Given the description of an element on the screen output the (x, y) to click on. 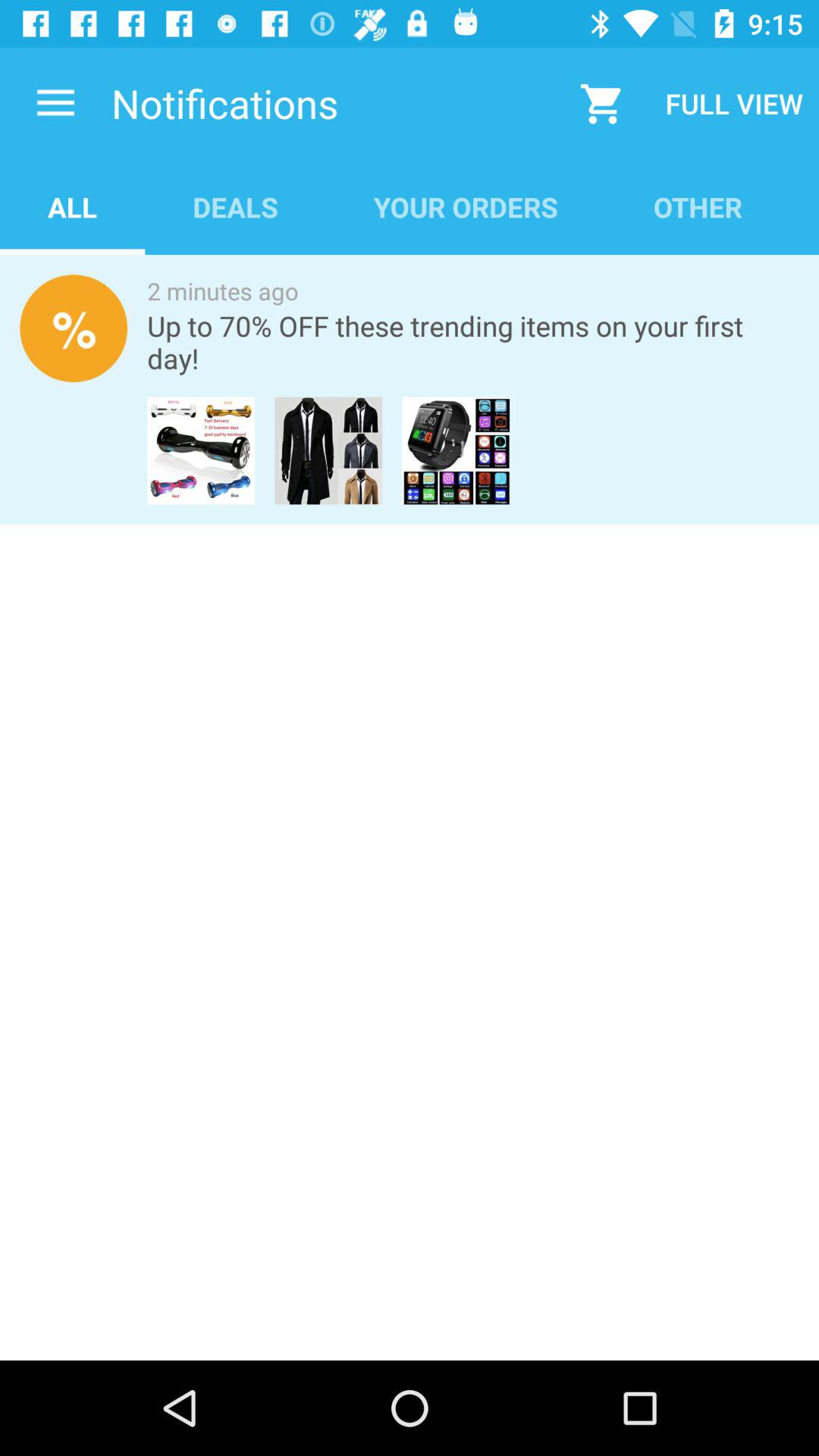
open item below notifications (72, 206)
